Given the description of an element on the screen output the (x, y) to click on. 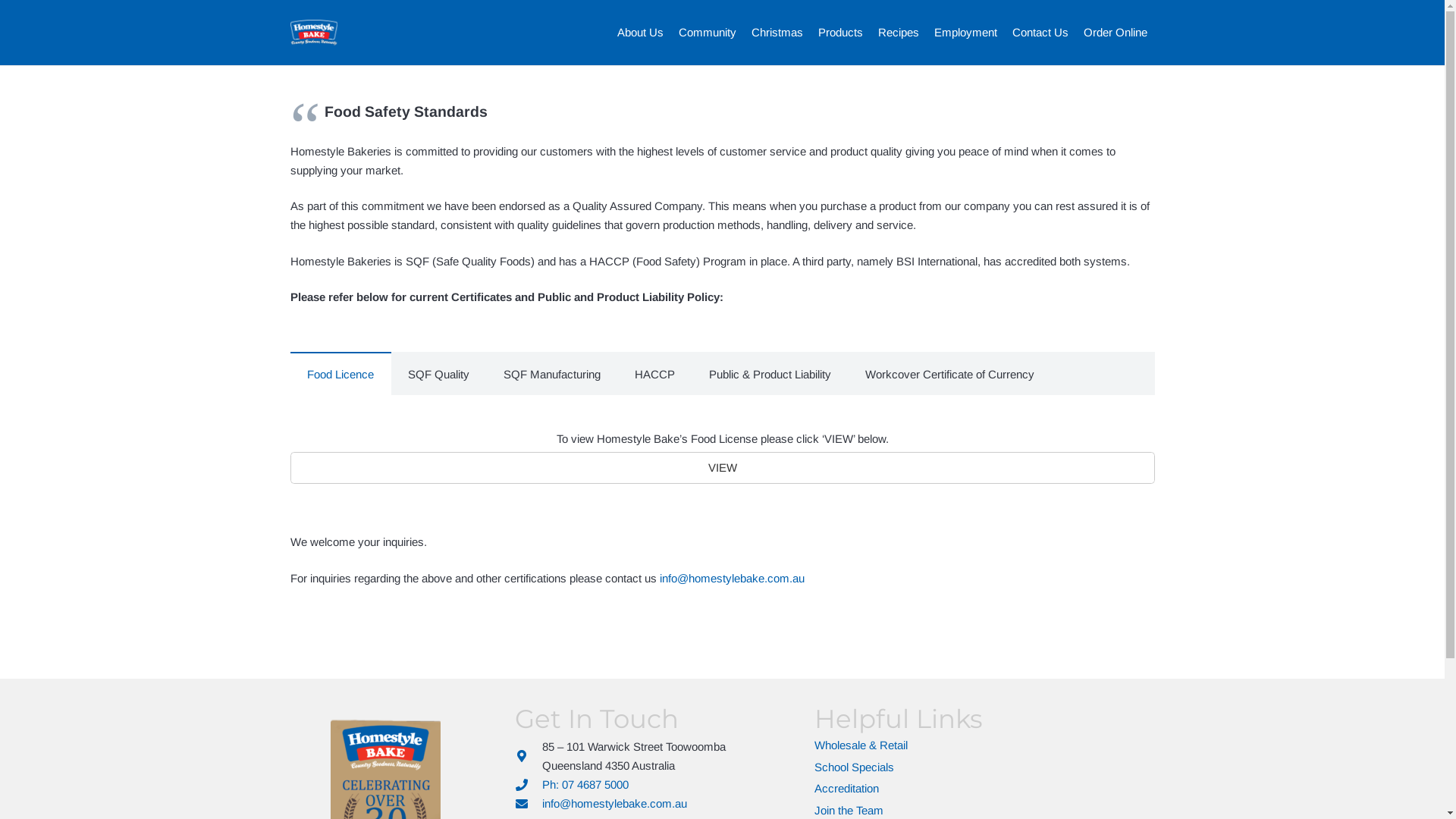
SQF Quality Element type: text (438, 373)
Products Element type: text (839, 32)
Community Element type: text (706, 32)
Order Online Element type: text (1114, 32)
VIEW Element type: text (721, 467)
SQF Manufacturing Element type: text (552, 373)
Join the Team Element type: text (848, 809)
Wholesale & Retail Element type: text (860, 744)
Food Licence Element type: text (339, 373)
info@homestylebake.com.au Element type: text (731, 577)
HACCP Element type: text (654, 373)
About Us Element type: text (640, 32)
Contact Us Element type: text (1039, 32)
Public & Product Liability Element type: text (769, 373)
Ph: 07 4687 5000 Element type: text (585, 784)
Employment Element type: text (965, 32)
Accreditation Element type: text (846, 787)
Christmas Element type: text (776, 32)
info@homestylebake.com.au Element type: text (614, 803)
Recipes Element type: text (898, 32)
Workcover Certificate of Currency Element type: text (949, 373)
School Specials Element type: text (854, 766)
